Given the description of an element on the screen output the (x, y) to click on. 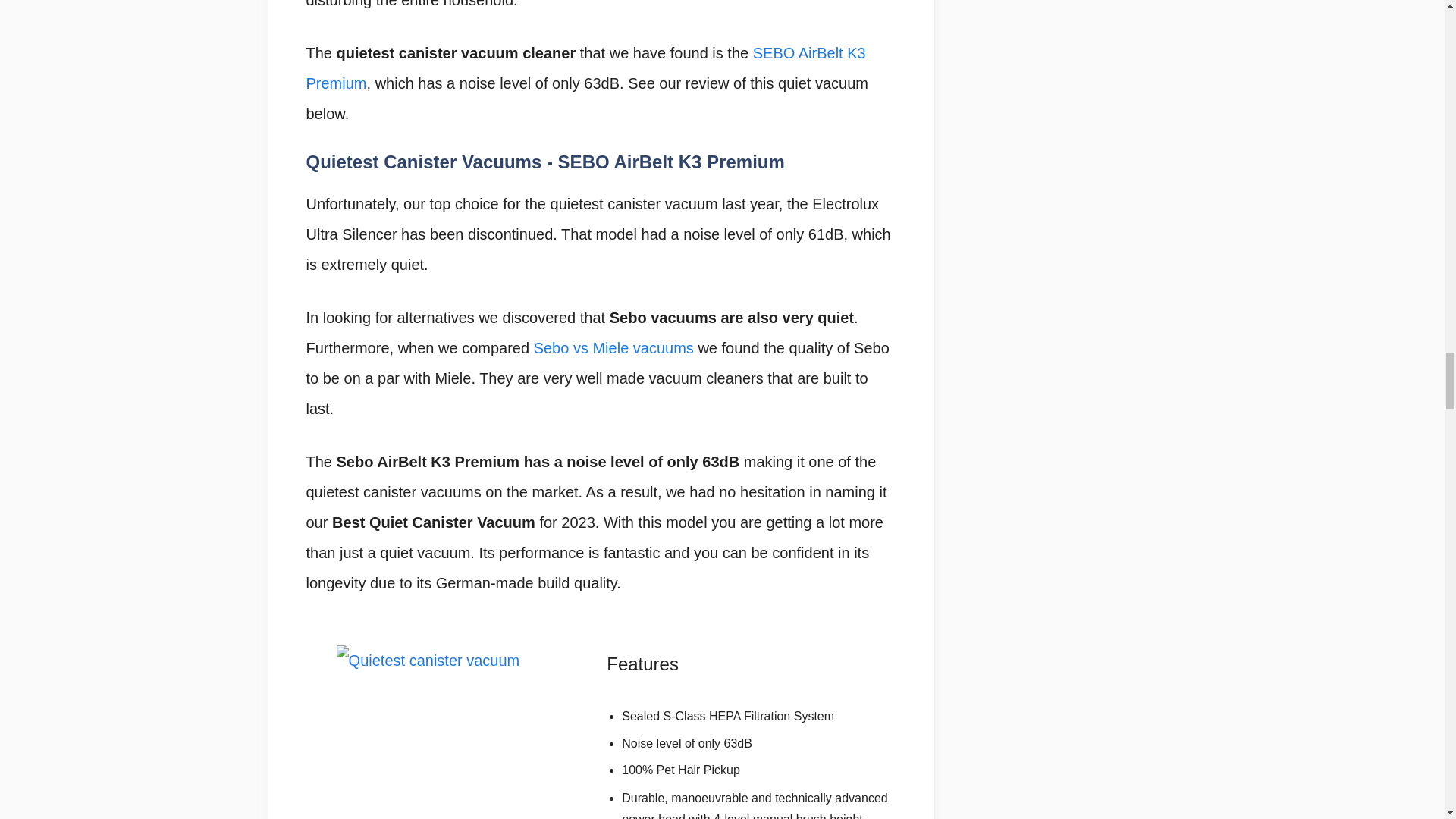
SEBO AirBelt K3 Premium (585, 68)
SEBO AirBelt K3 Premium (585, 68)
SEBO Airbelt K3 Premium (450, 732)
Sebo vs Miele vacuums (614, 347)
